Given the description of an element on the screen output the (x, y) to click on. 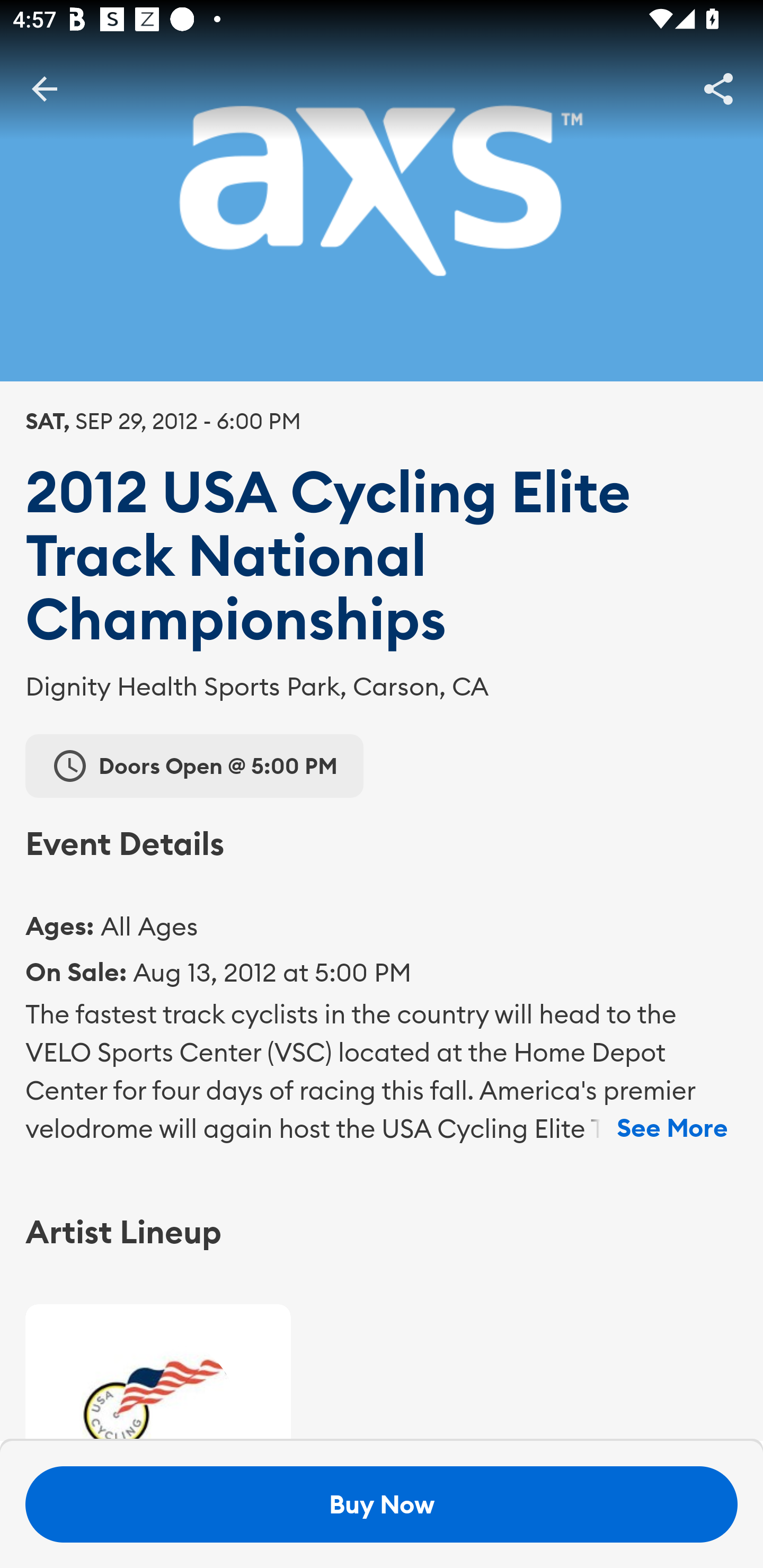
BackButton (44, 88)
Share (718, 88)
See More (671, 1127)
Buy Now (381, 1504)
